Given the description of an element on the screen output the (x, y) to click on. 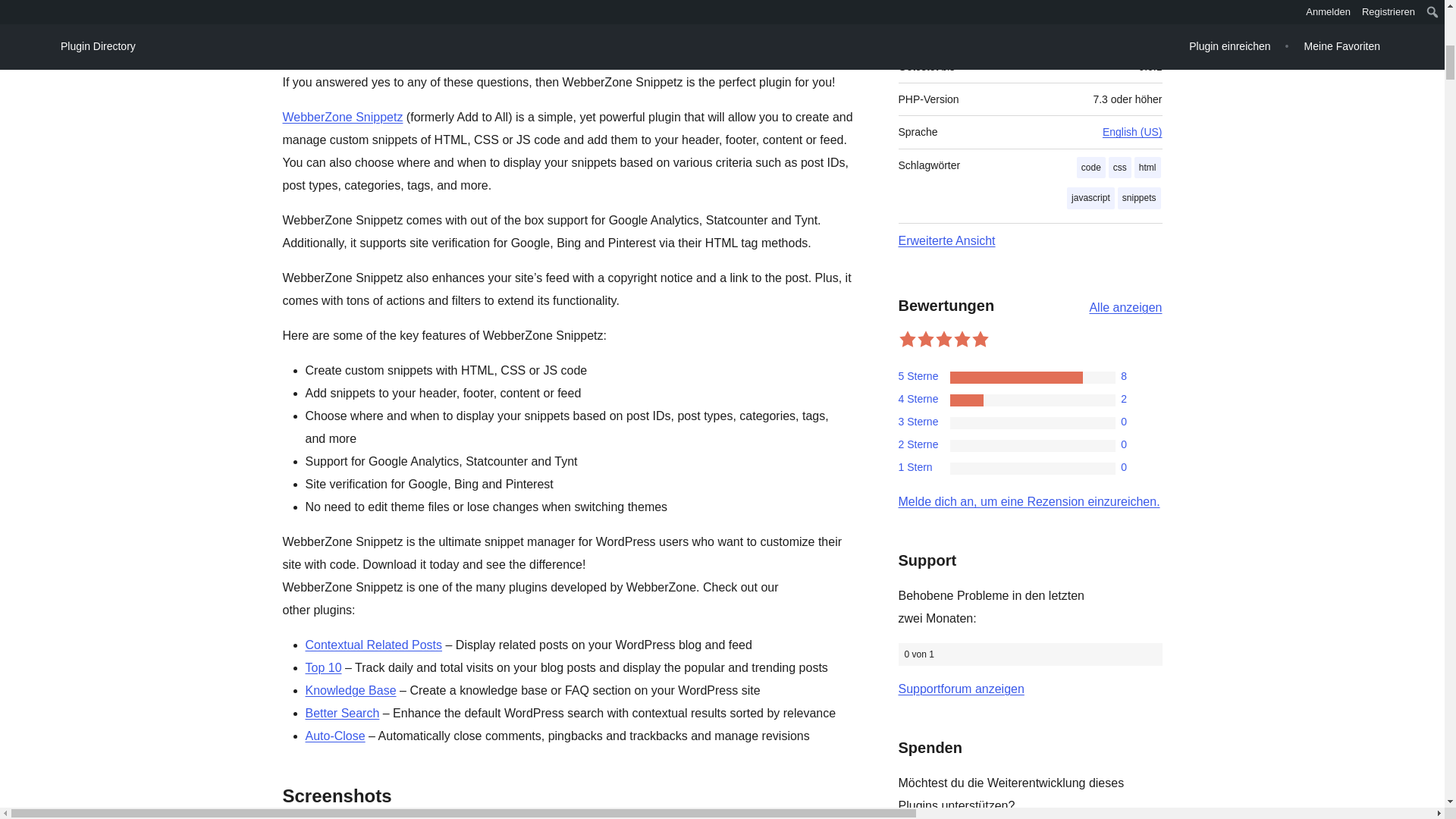
Top 10 (322, 667)
WebberZone Snippetz (342, 116)
Contextual Related Posts (373, 644)
Melde dich bei WordPress.org an (1028, 501)
